Given the description of an element on the screen output the (x, y) to click on. 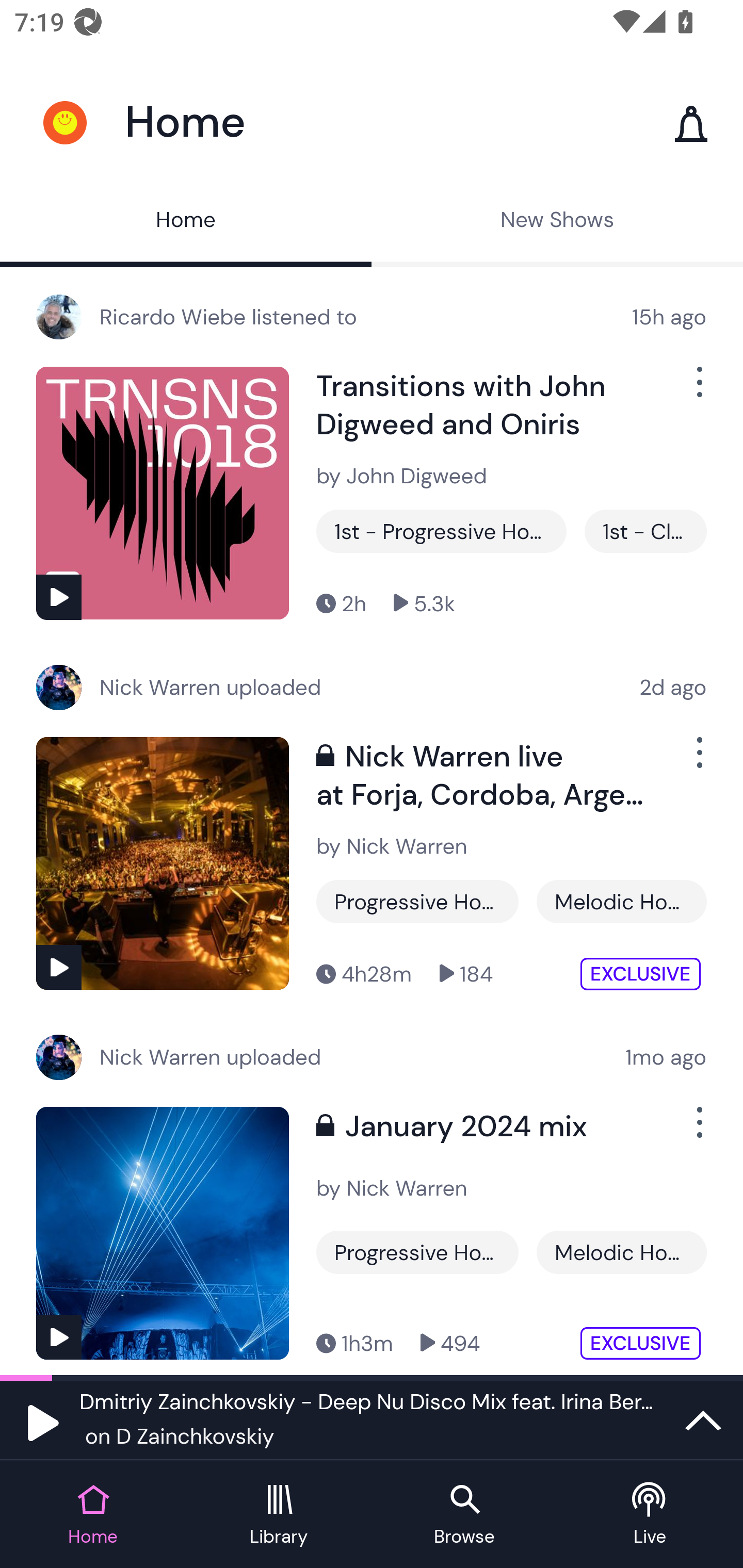
Home (185, 221)
New Shows (557, 221)
Show Options Menu Button (697, 389)
1st - Progressive House (441, 531)
1st - Club (645, 531)
Show Options Menu Button (697, 760)
Progressive House (417, 901)
Melodic House (621, 901)
Show Options Menu Button (697, 1130)
Progressive House (417, 1251)
Melodic House (621, 1251)
Home tab Home (92, 1515)
Library tab Library (278, 1515)
Browse tab Browse (464, 1515)
Live tab Live (650, 1515)
